Given the description of an element on the screen output the (x, y) to click on. 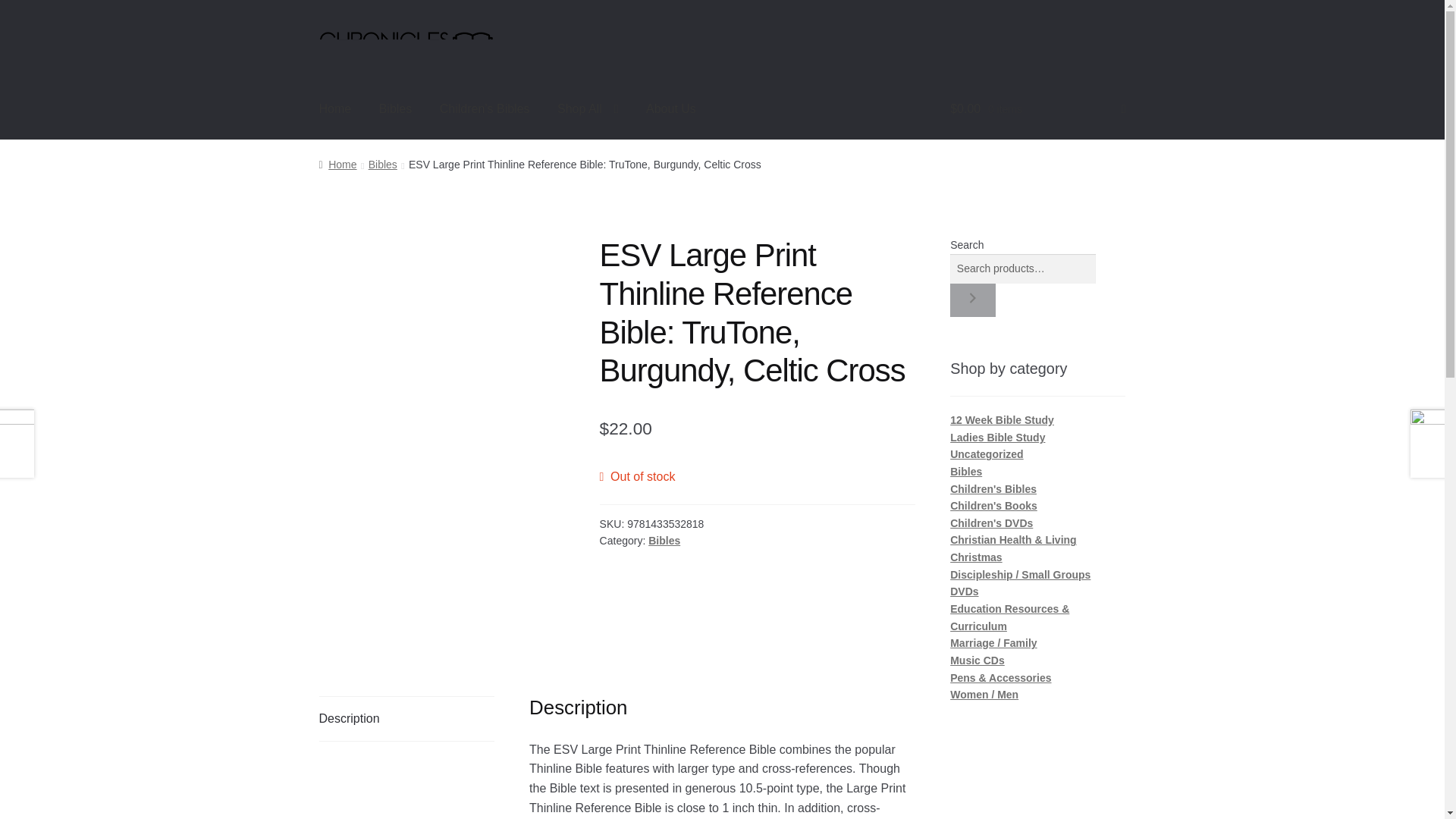
Bibles (663, 540)
Description (406, 718)
Bibles (382, 164)
Home (337, 164)
Bibles (395, 108)
About Us (670, 108)
View your shopping cart (1037, 108)
Shop All (587, 108)
Home (335, 108)
